Given the description of an element on the screen output the (x, y) to click on. 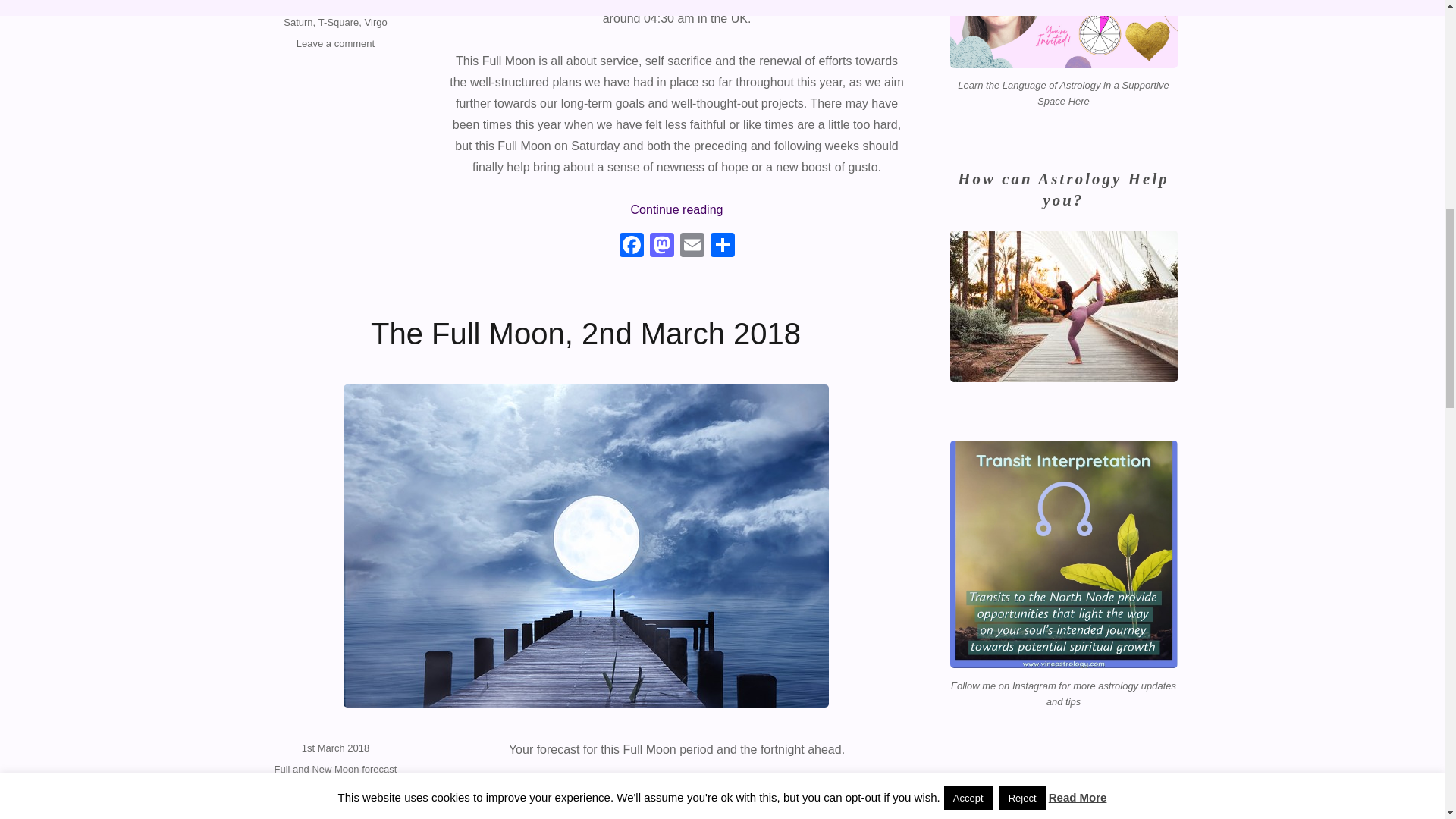
Mars (326, 6)
Virgo (376, 21)
Saturn (298, 21)
Mastodon (661, 246)
Capricorn (288, 6)
Email (691, 246)
12th house (308, 806)
Capricorn (296, 817)
Facebook (630, 246)
Full Moon (332, 817)
